Given the description of an element on the screen output the (x, y) to click on. 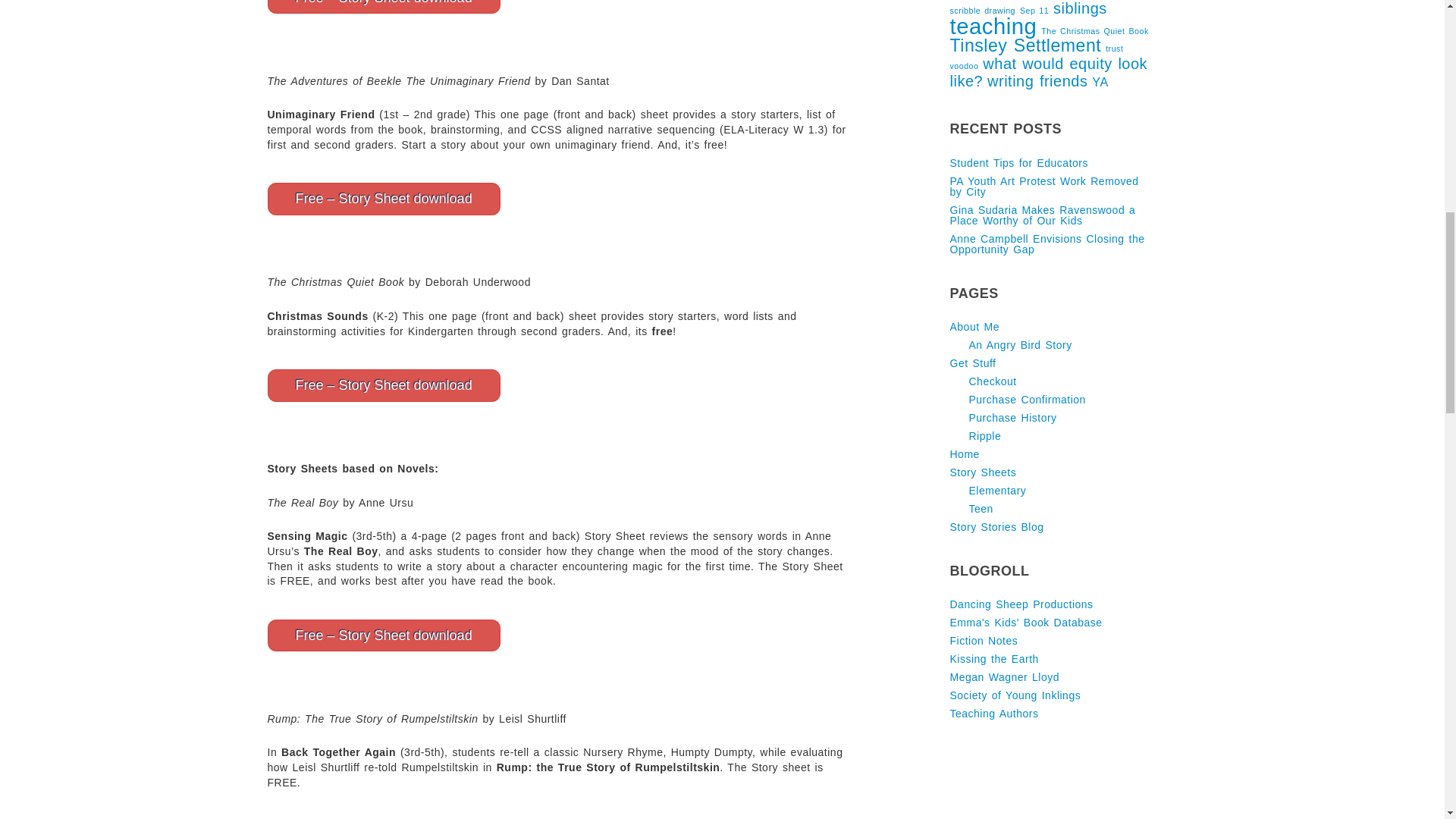
A lovely blog, especially for setting (993, 658)
classes and mentors for young authors (1014, 695)
Revision resources for writers (983, 640)
